Given the description of an element on the screen output the (x, y) to click on. 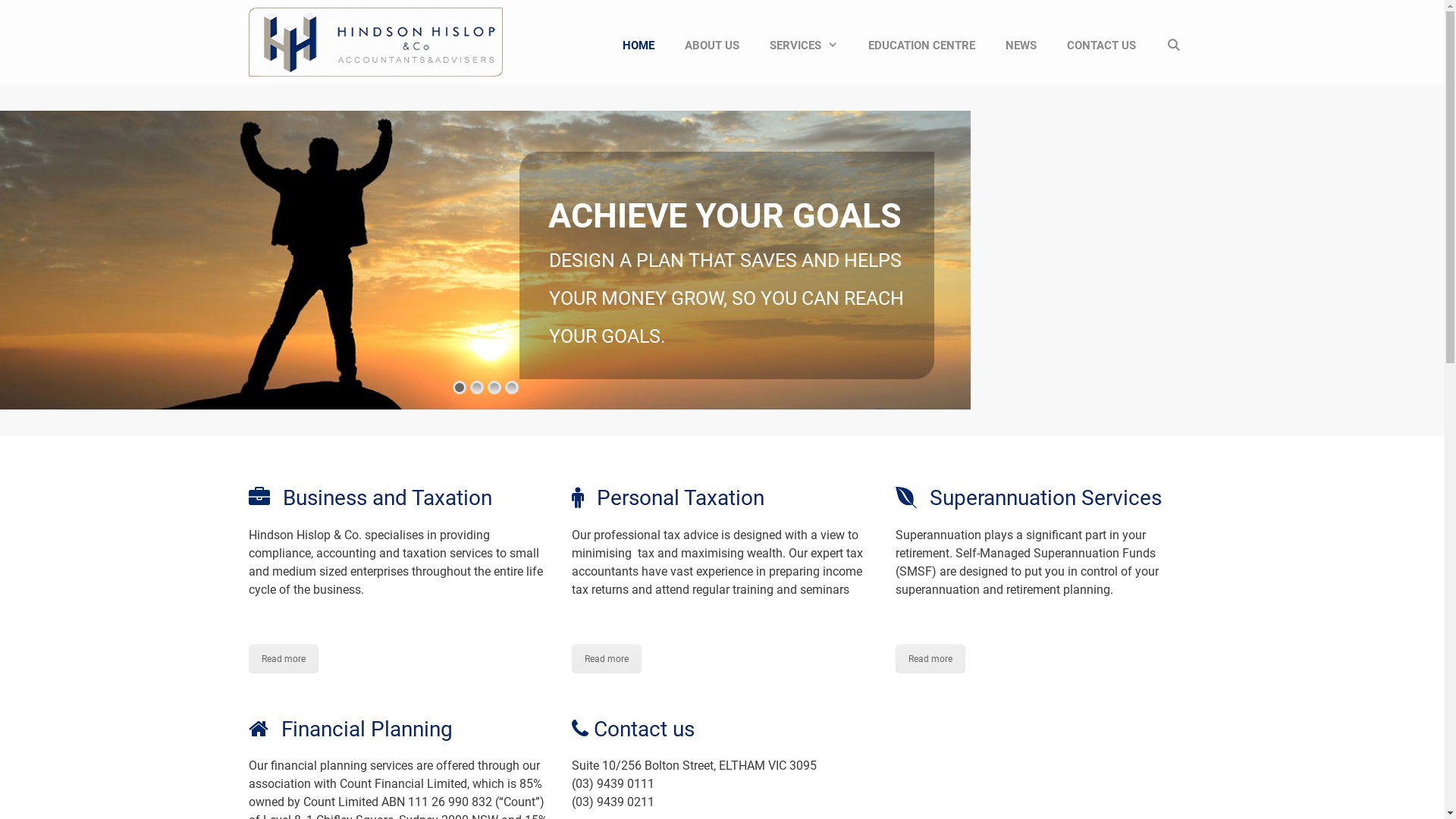
CONTACT US Element type: text (1101, 45)
SERVICES Element type: text (803, 45)
ABOUT US Element type: text (711, 45)
Read more Element type: text (930, 658)
NEWS Element type: text (1020, 45)
Read more Element type: text (283, 658)
Read more Element type: text (606, 658)
HOME Element type: text (638, 45)
EDUCATION CENTRE Element type: text (921, 45)
